Given the description of an element on the screen output the (x, y) to click on. 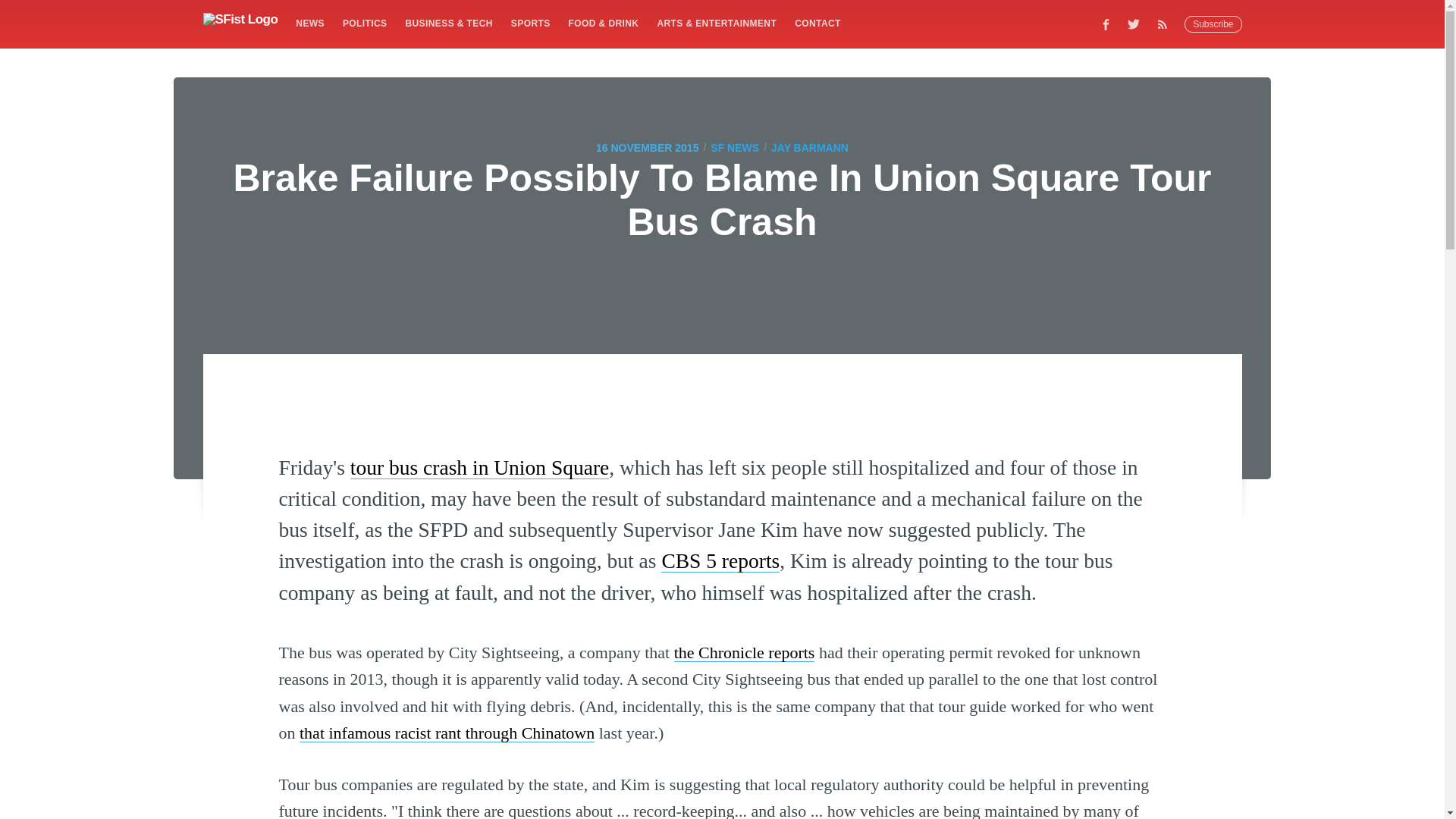
RSS (1166, 23)
Twitter (1133, 23)
CBS 5 reports (719, 560)
tour bus crash in Union Square (479, 467)
POLITICS (364, 23)
SF NEWS (734, 147)
the Chronicle reports (744, 651)
JAY BARMANN (809, 147)
CONTACT (818, 23)
NEWS (309, 23)
